Given the description of an element on the screen output the (x, y) to click on. 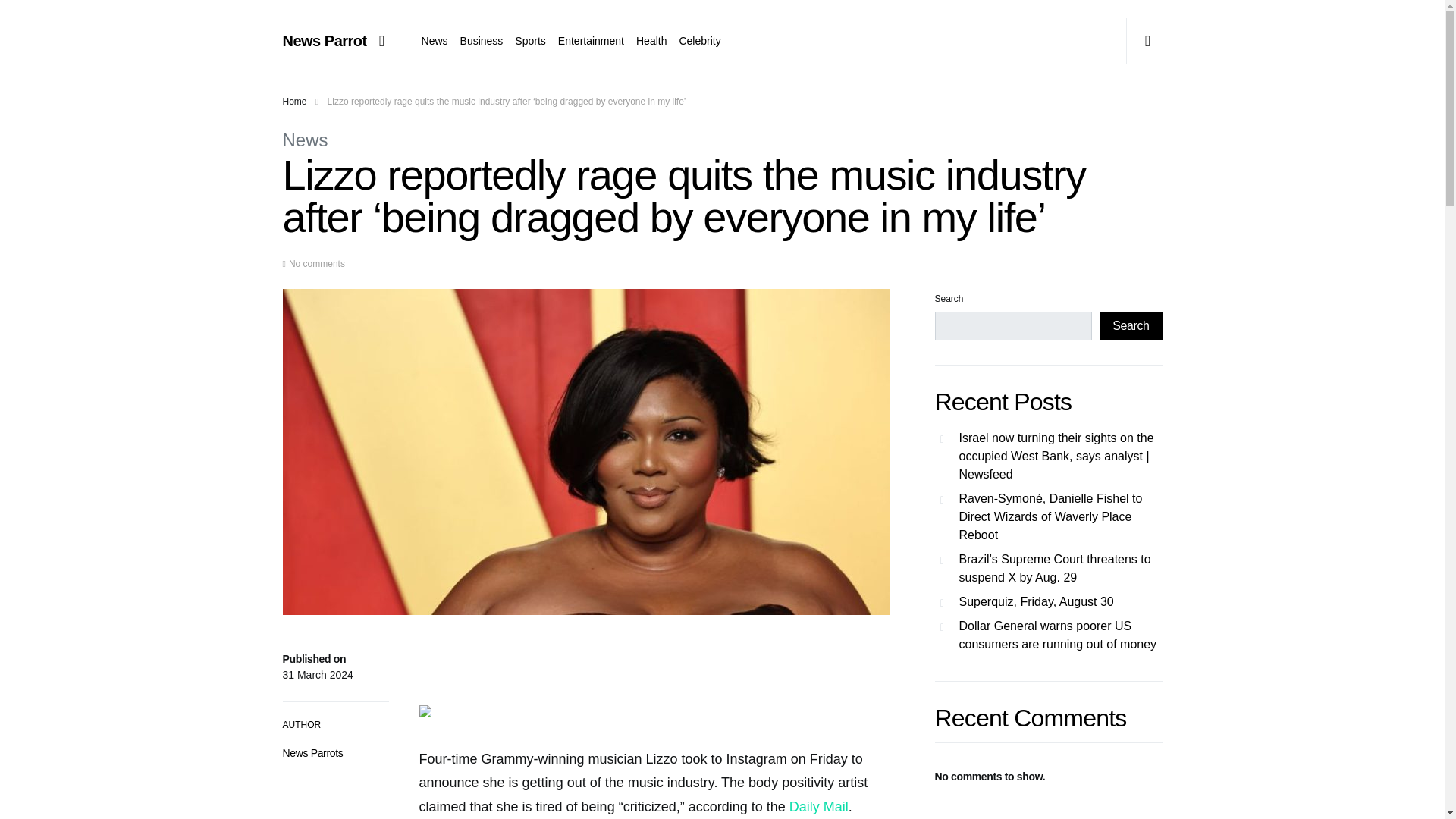
Sports (529, 40)
Health (651, 40)
News Parrot (324, 40)
Entertainment (590, 40)
Daily Mail (818, 806)
Home (293, 101)
Business (481, 40)
No comments (316, 264)
News (304, 139)
Celebrity (696, 40)
